Given the description of an element on the screen output the (x, y) to click on. 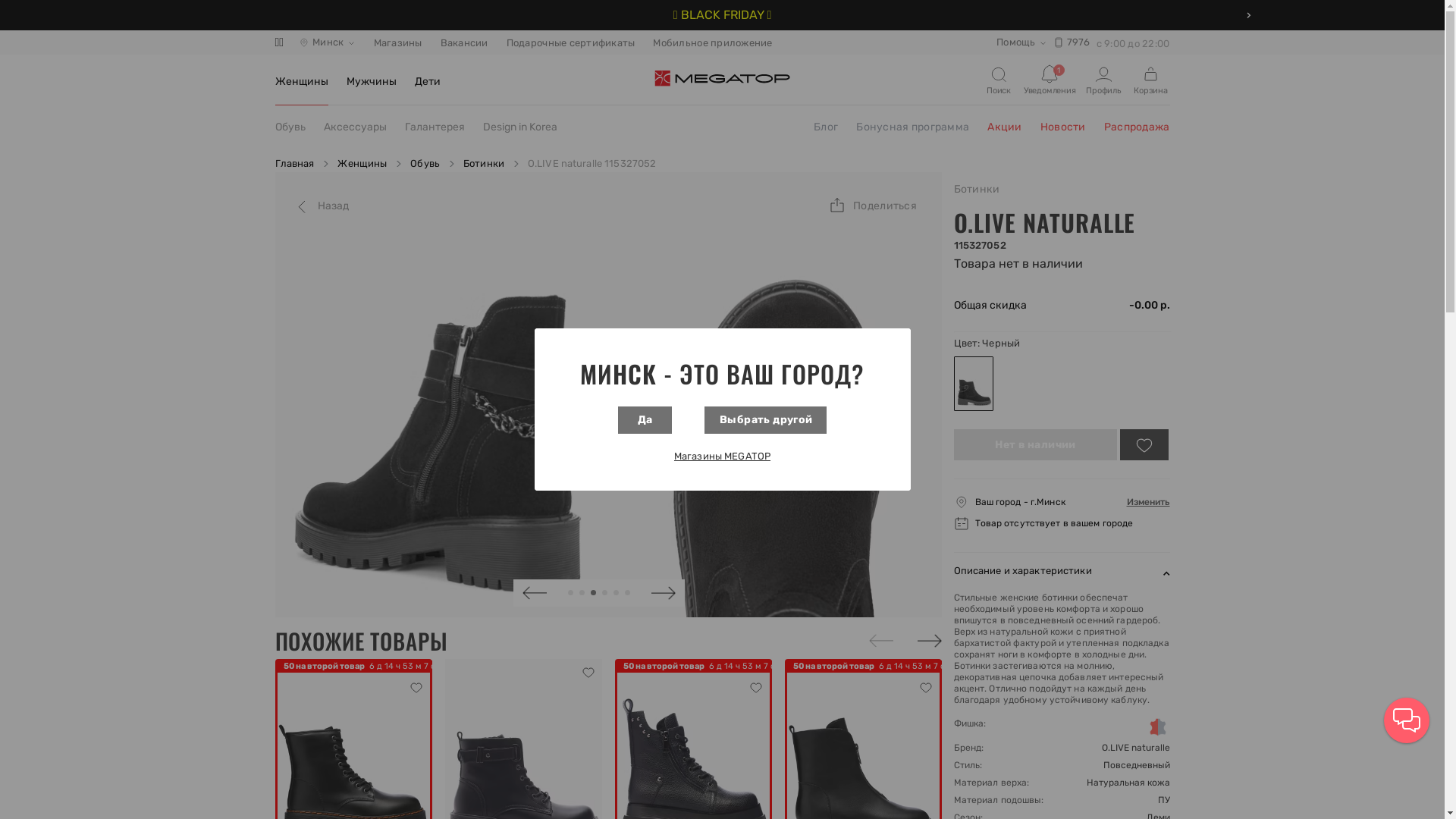
7976 Element type: text (1071, 42)
O.LIVE NATURALLE Element type: text (1044, 222)
O.LIVE naturalle 115327052 Element type: text (591, 163)
Design in Korea Element type: text (519, 126)
